Given the description of an element on the screen output the (x, y) to click on. 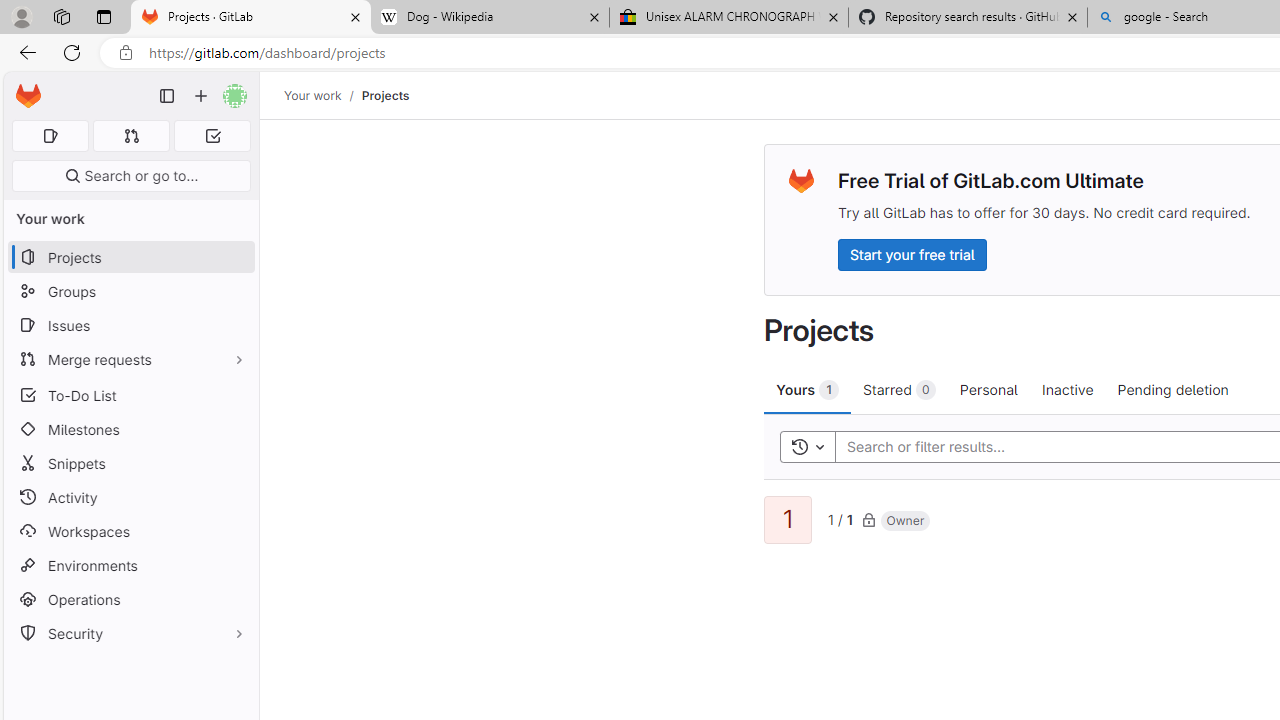
Assigned issues 0 (50, 136)
Merge requests (130, 358)
Issues (130, 325)
Environments (130, 564)
Security (130, 633)
Merge requests (130, 358)
Snippets (130, 463)
Primary navigation sidebar (167, 96)
Personal (988, 389)
Environments (130, 564)
